Given the description of an element on the screen output the (x, y) to click on. 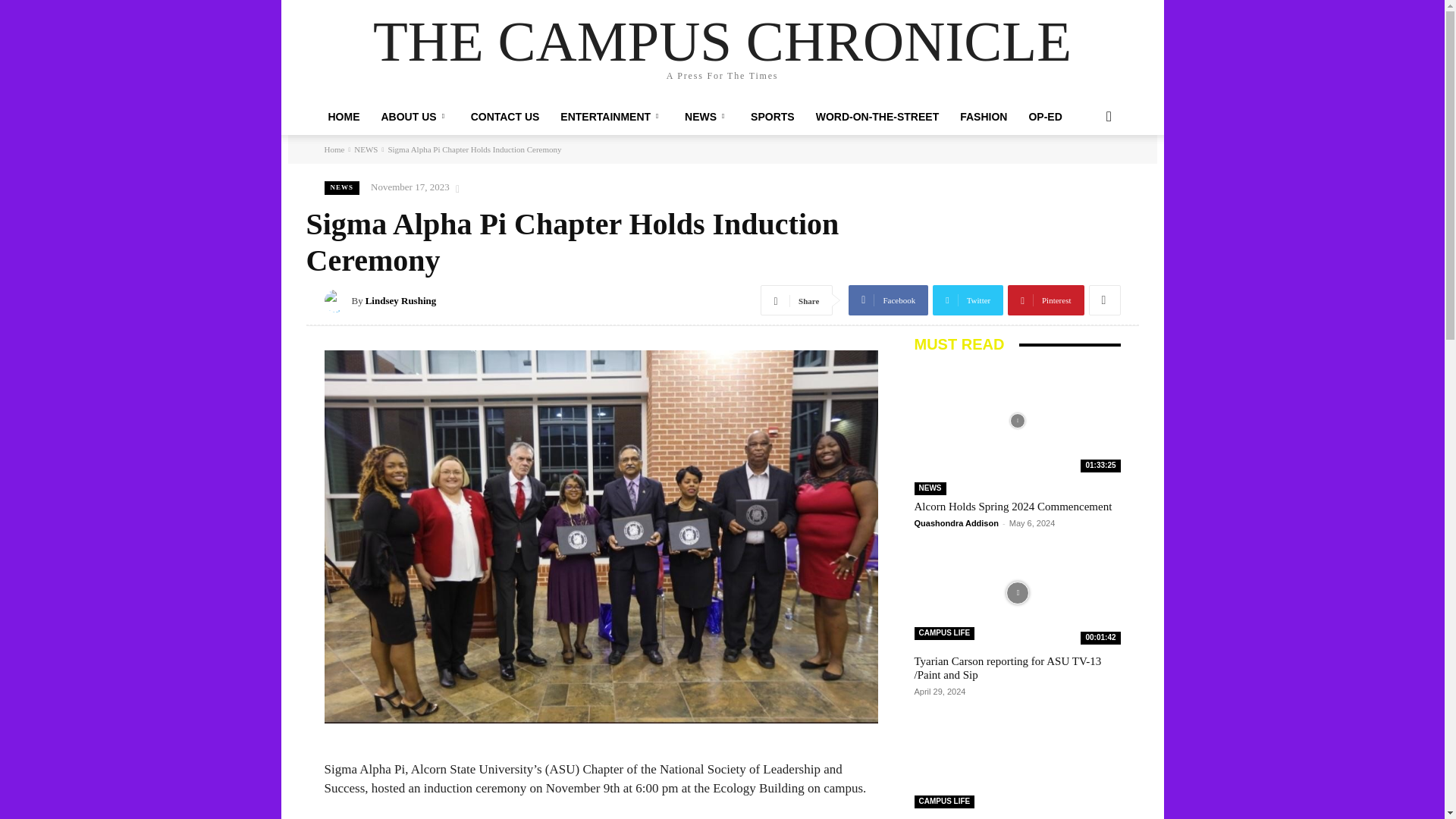
THE CAMPUS CHRONICLE (721, 41)
Facebook (888, 300)
ENTERTAINMENT (612, 116)
Pinterest (1045, 300)
ABOUT US (414, 116)
Lindsey Rushing (338, 300)
NEWS (706, 116)
HOME (343, 116)
More (1105, 300)
Twitter (968, 300)
View all posts in NEWS (365, 148)
CONTACT US (505, 116)
